Given the description of an element on the screen output the (x, y) to click on. 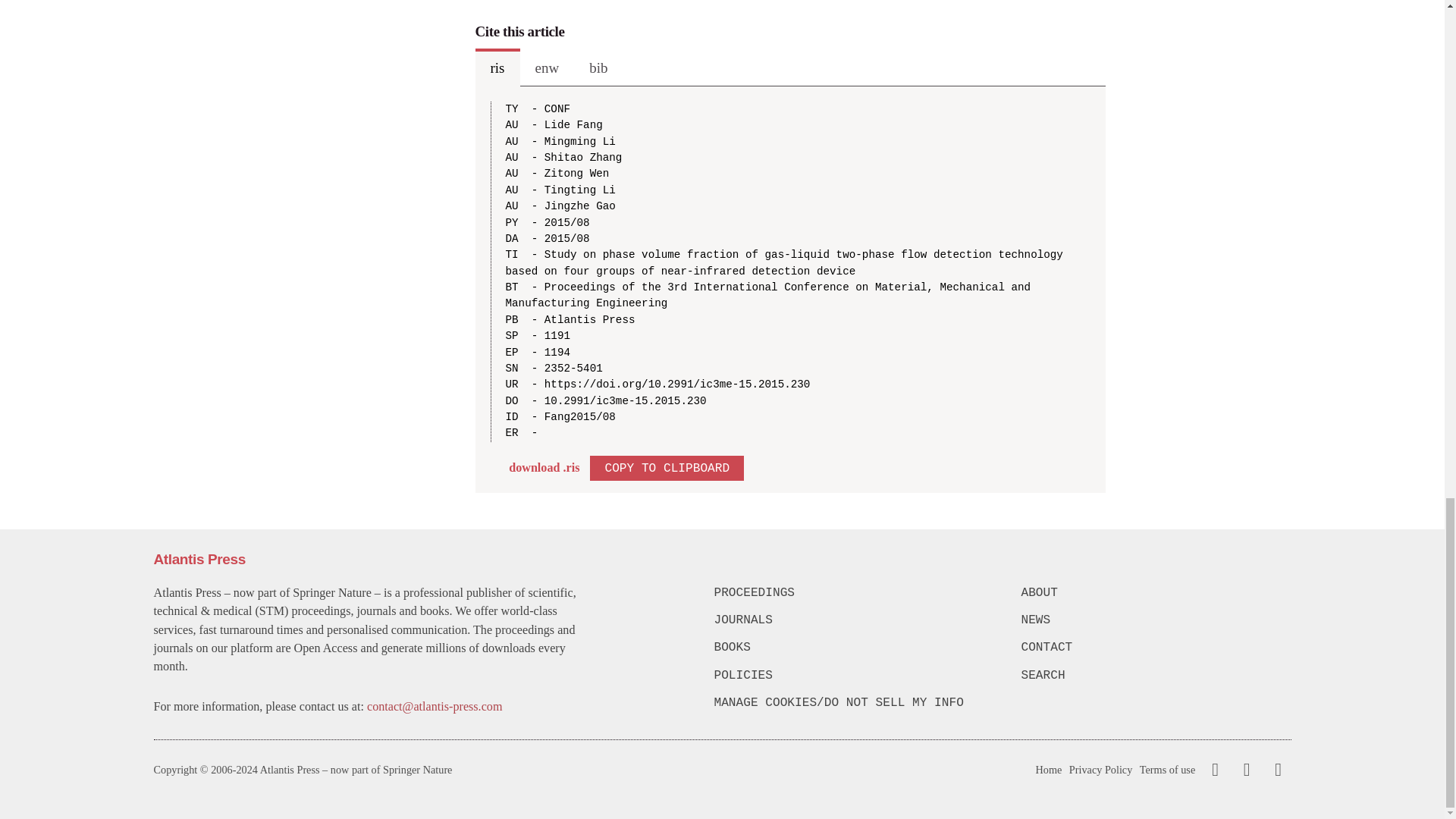
enw (547, 67)
bib (598, 67)
Atlantis Press (198, 559)
POLICIES (849, 675)
PROCEEDINGS (849, 592)
BOOKS (849, 647)
NEWS (1155, 620)
ABOUT (1155, 592)
JOURNALS (849, 620)
ris (496, 67)
